Given the description of an element on the screen output the (x, y) to click on. 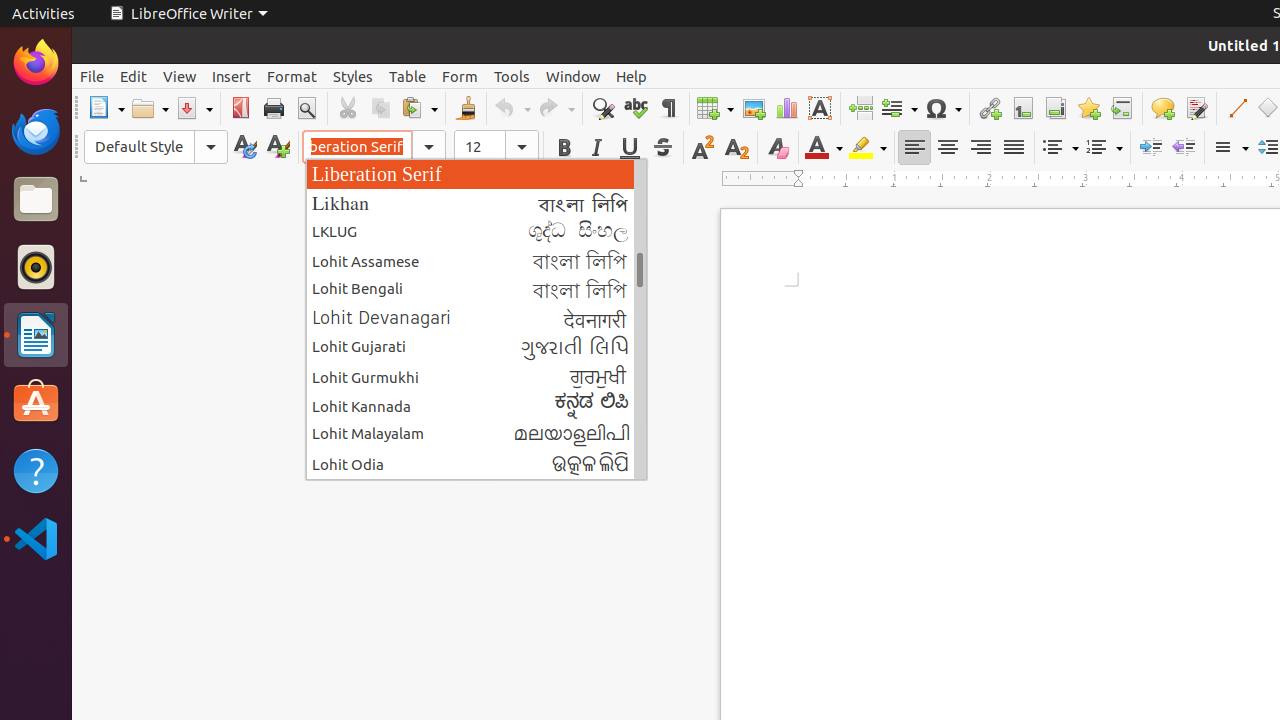
Redo Element type: push-button (556, 108)
Print Preview Element type: toggle-button (306, 108)
Chart Element type: push-button (786, 108)
Liberation Serif Element type: list-item (476, 173)
